Given the description of an element on the screen output the (x, y) to click on. 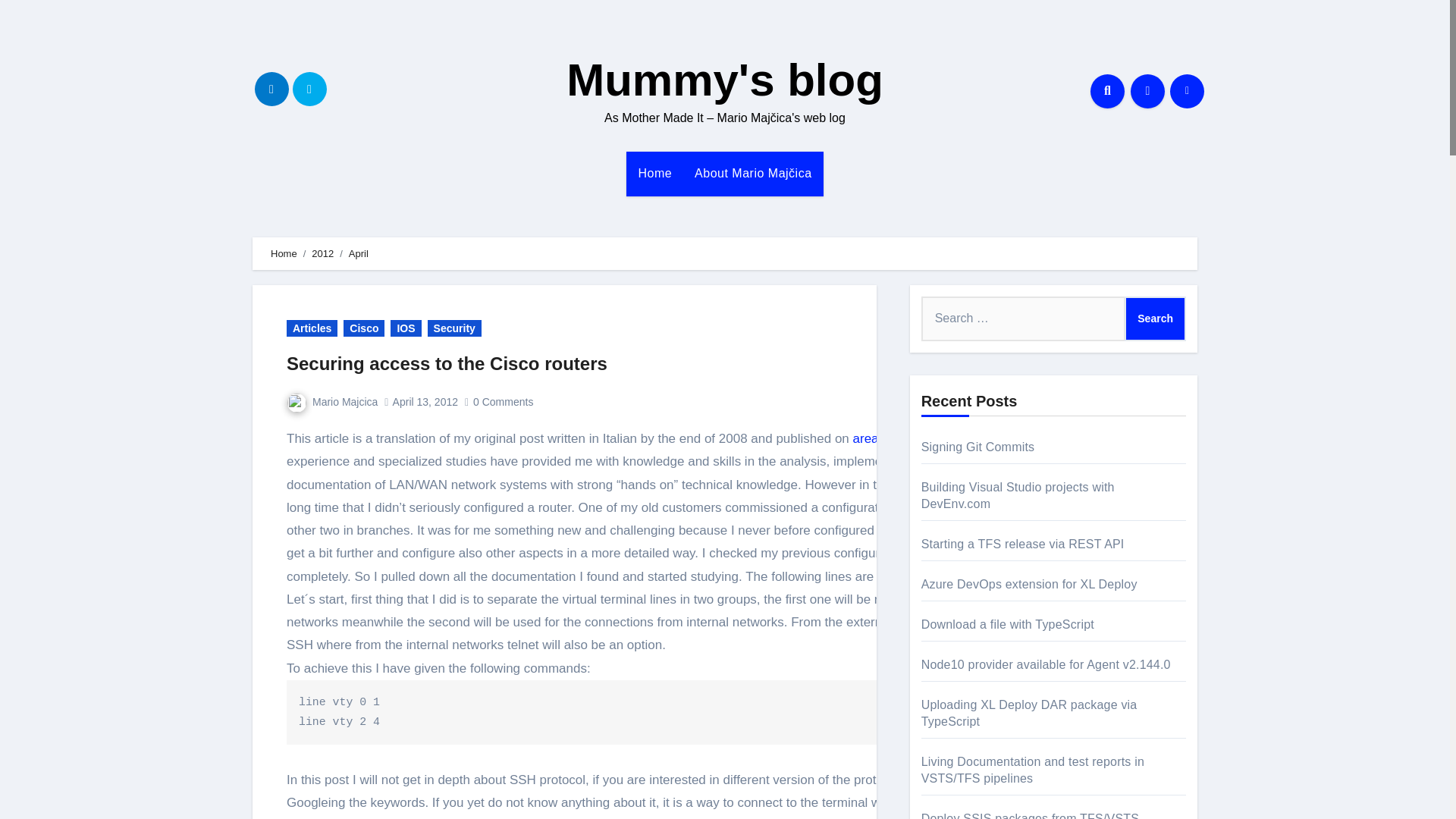
Security (454, 328)
areanetworking.it (901, 438)
April 13, 2012 (425, 401)
Home (283, 253)
Azure DevOps extension for XL Deploy (1029, 584)
Building Visual Studio projects with DevEnv.com (1018, 495)
Home (654, 173)
Securing access to the Cisco routers (446, 362)
Mario Majcica (331, 401)
Home (654, 173)
